Given the description of an element on the screen output the (x, y) to click on. 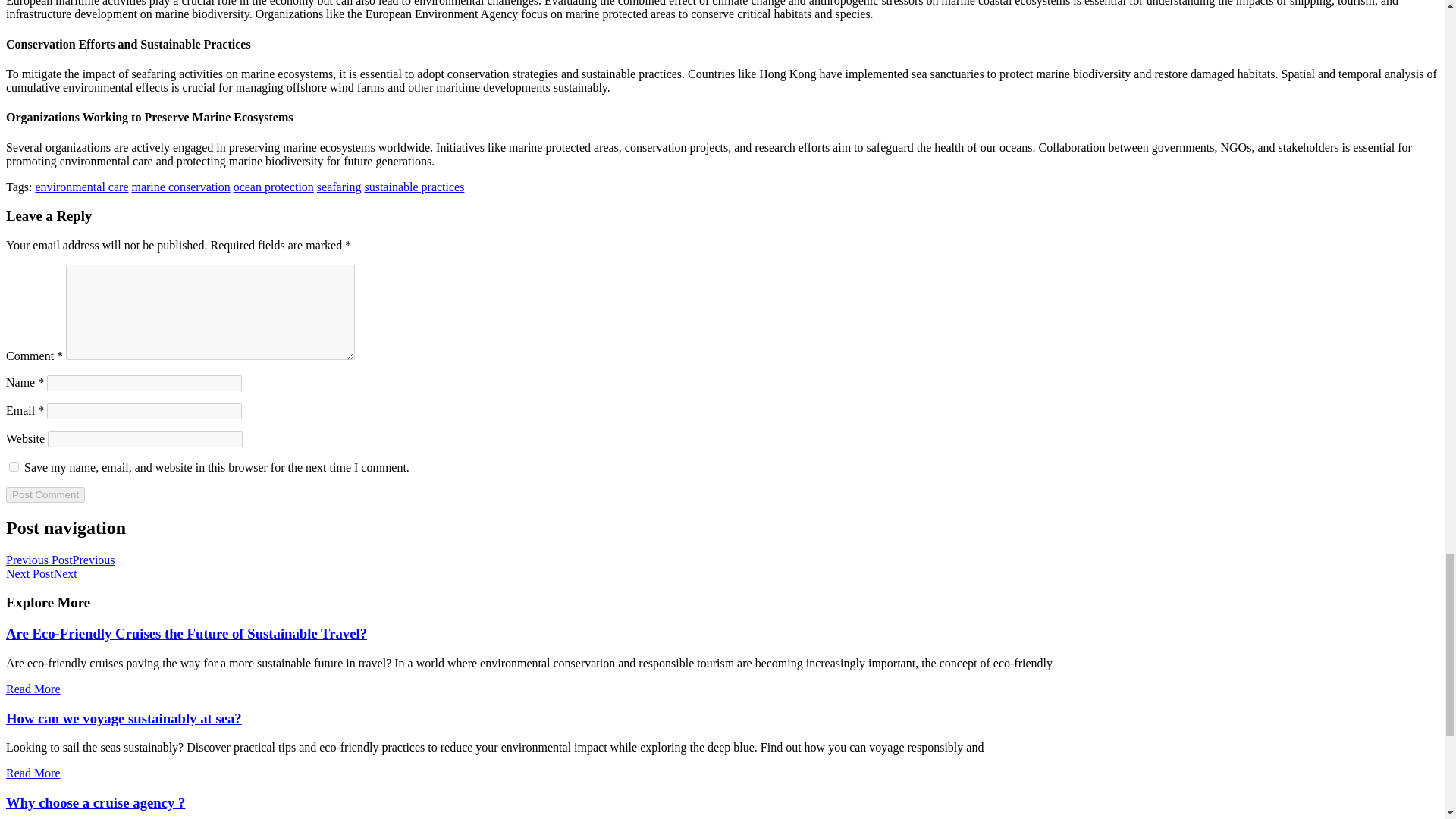
Post Comment (44, 494)
environmental care (81, 186)
ocean protection (273, 186)
yes (13, 466)
marine conservation (180, 186)
